Given the description of an element on the screen output the (x, y) to click on. 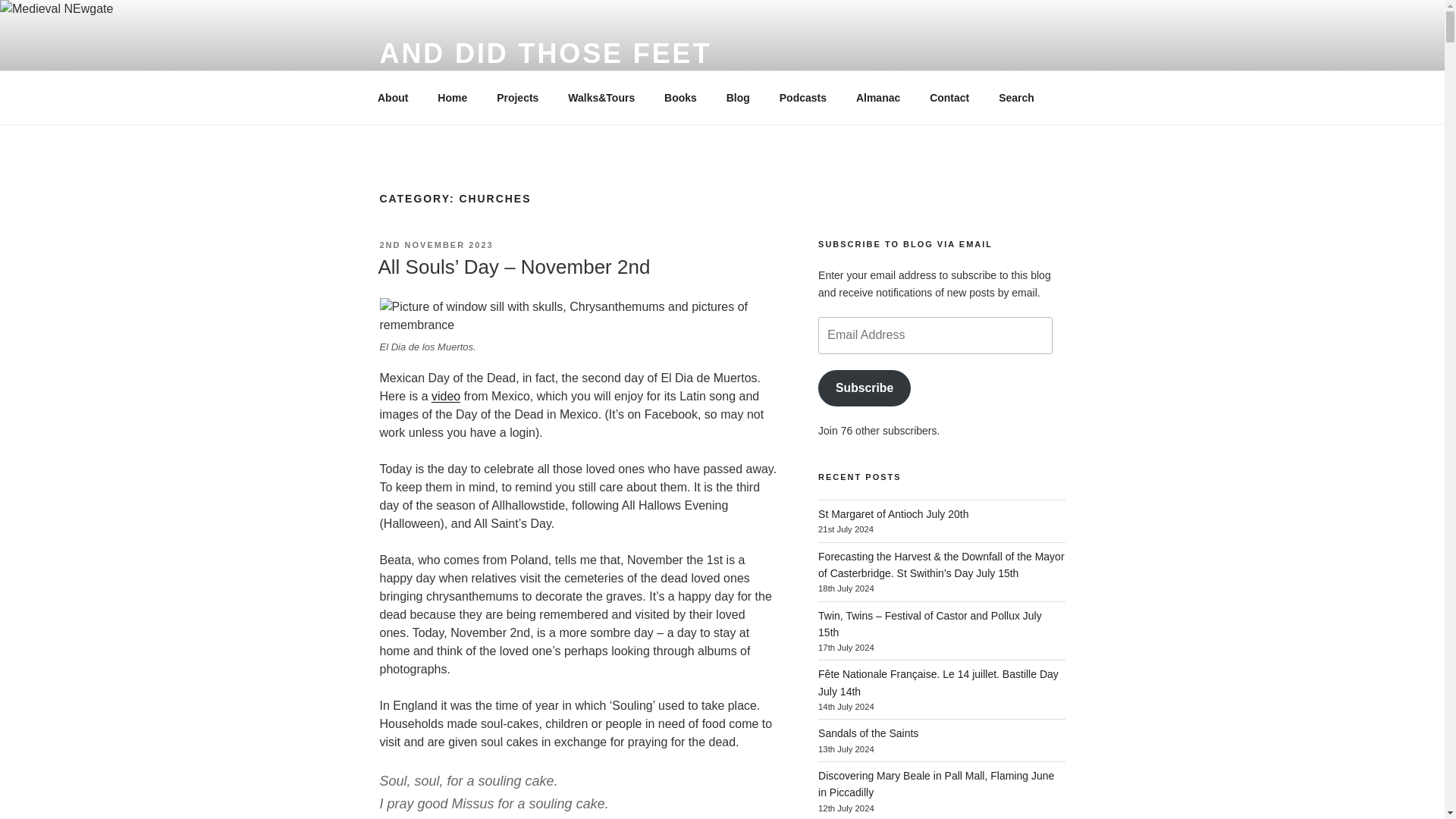
Home (452, 97)
AND DID THOSE FEET (544, 52)
Books (680, 97)
About (392, 97)
Contact (949, 97)
2ND NOVEMBER 2023 (435, 244)
Almanac (877, 97)
Blog (737, 97)
Podcasts (802, 97)
Search (1016, 97)
video (445, 395)
Projects (517, 97)
